Given the description of an element on the screen output the (x, y) to click on. 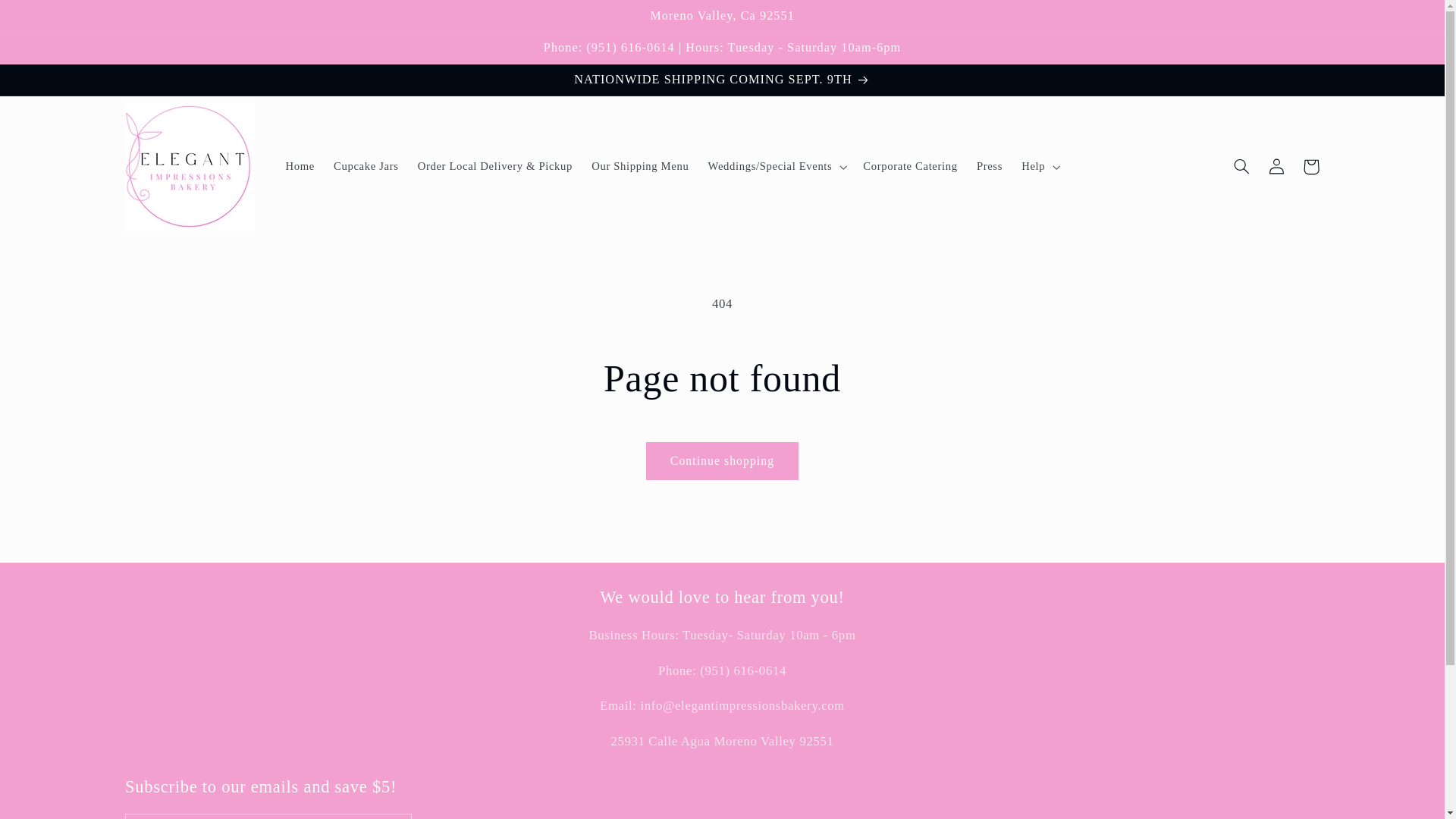
Cupcake Jars (365, 166)
Log in (1276, 166)
Press (988, 166)
Our Shipping Menu (640, 166)
Skip to content (48, 18)
Cart (1310, 166)
Home (300, 166)
Corporate Catering (910, 166)
